Given the description of an element on the screen output the (x, y) to click on. 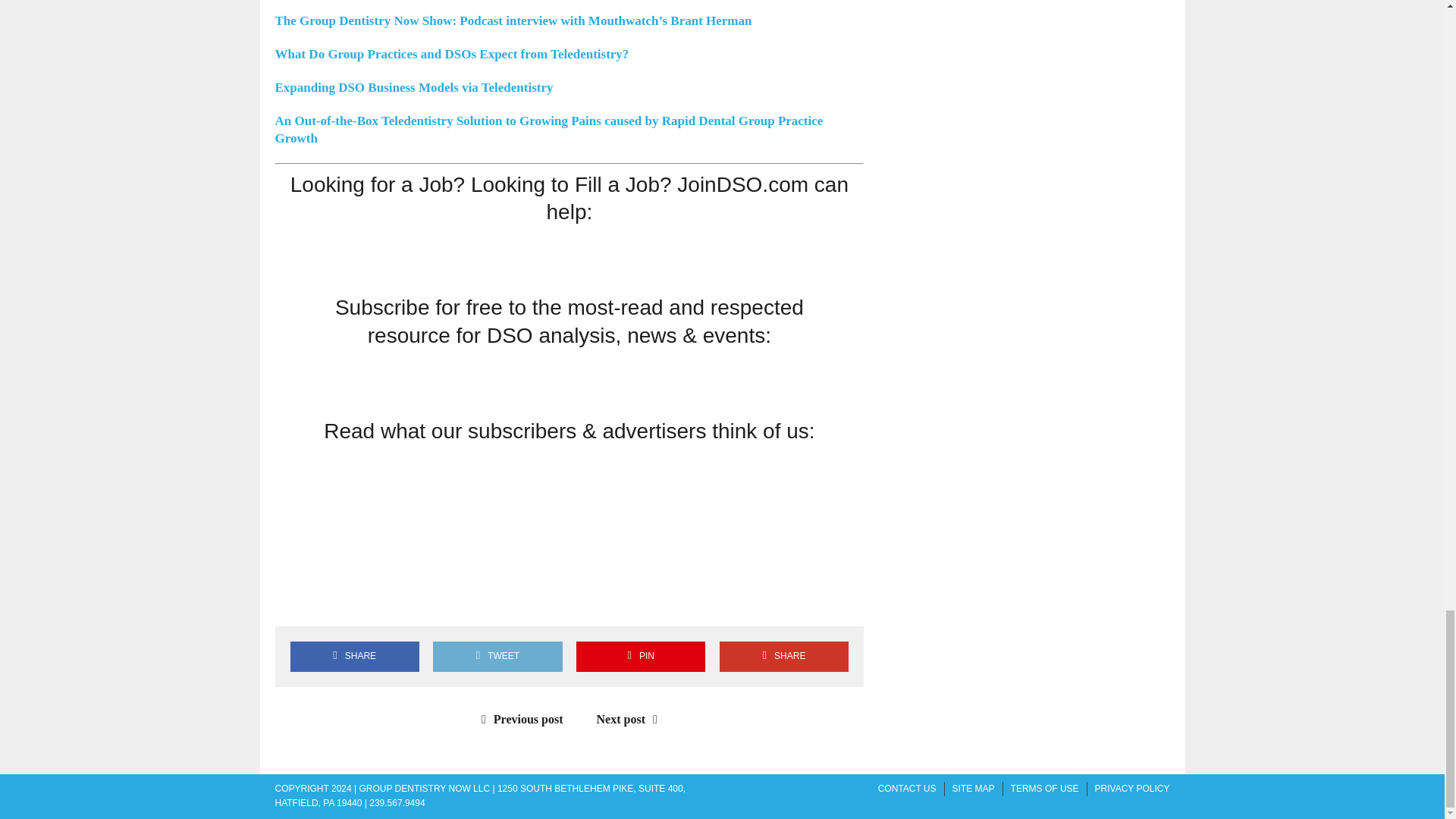
Share on Facebook (354, 655)
Share on Linkedin (380, 600)
Share on Facebook (293, 600)
Tweet This Post (497, 655)
Share by email (424, 600)
Share on Twitter (336, 600)
